Given the description of an element on the screen output the (x, y) to click on. 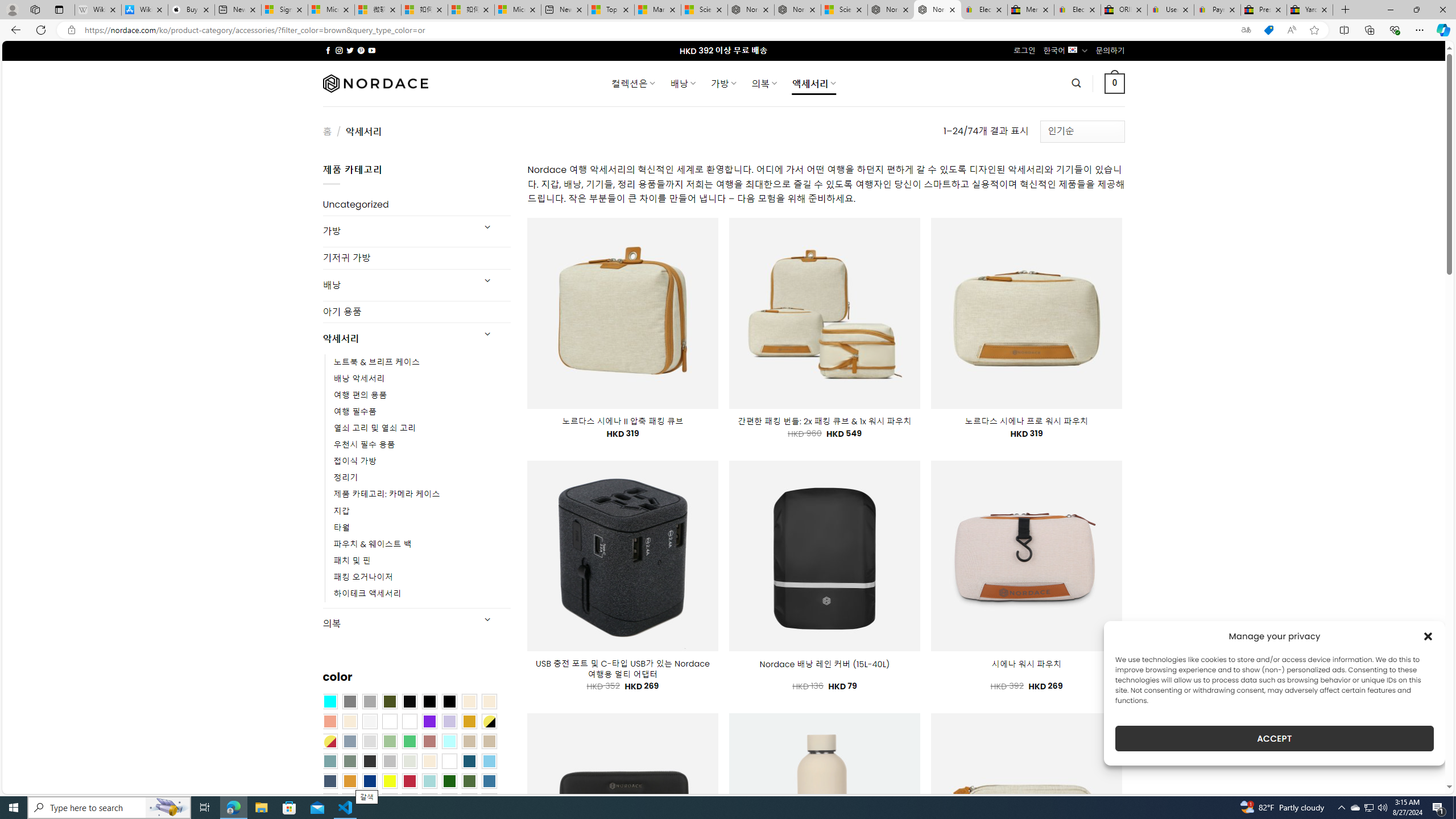
Microsoft Services Agreement (330, 9)
This site has coupons! Shopping in Microsoft Edge (1268, 29)
